Given the description of an element on the screen output the (x, y) to click on. 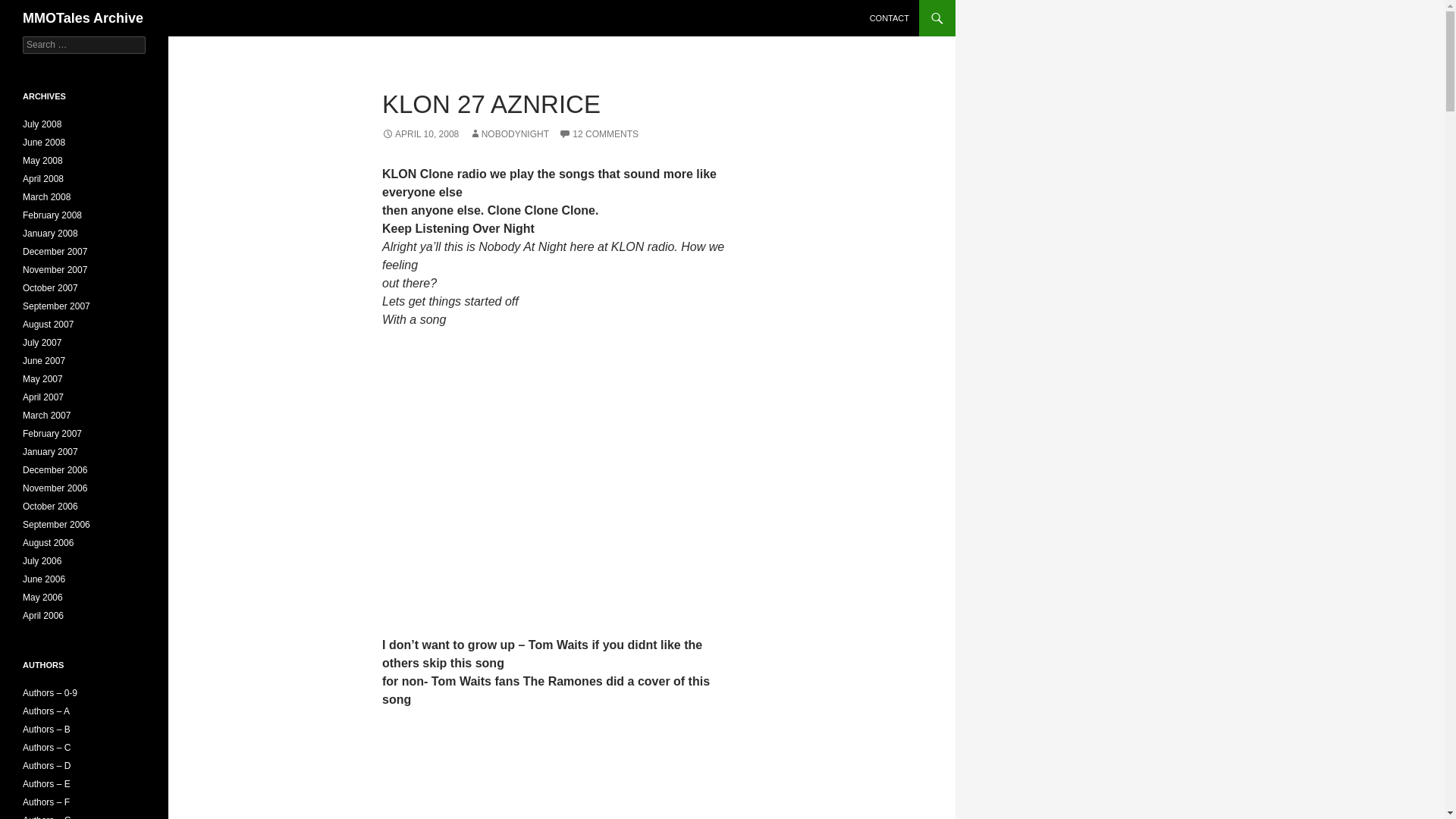
December 2007 (55, 251)
January 2008 (50, 233)
June 2007 (44, 360)
April 2008 (43, 178)
July 2007 (42, 342)
November 2007 (55, 269)
September 2007 (56, 306)
June 2008 (44, 142)
April 2007 (43, 397)
October 2007 (50, 287)
February 2008 (52, 214)
NOBODYNIGHT (508, 133)
APRIL 10, 2008 (419, 133)
